Given the description of an element on the screen output the (x, y) to click on. 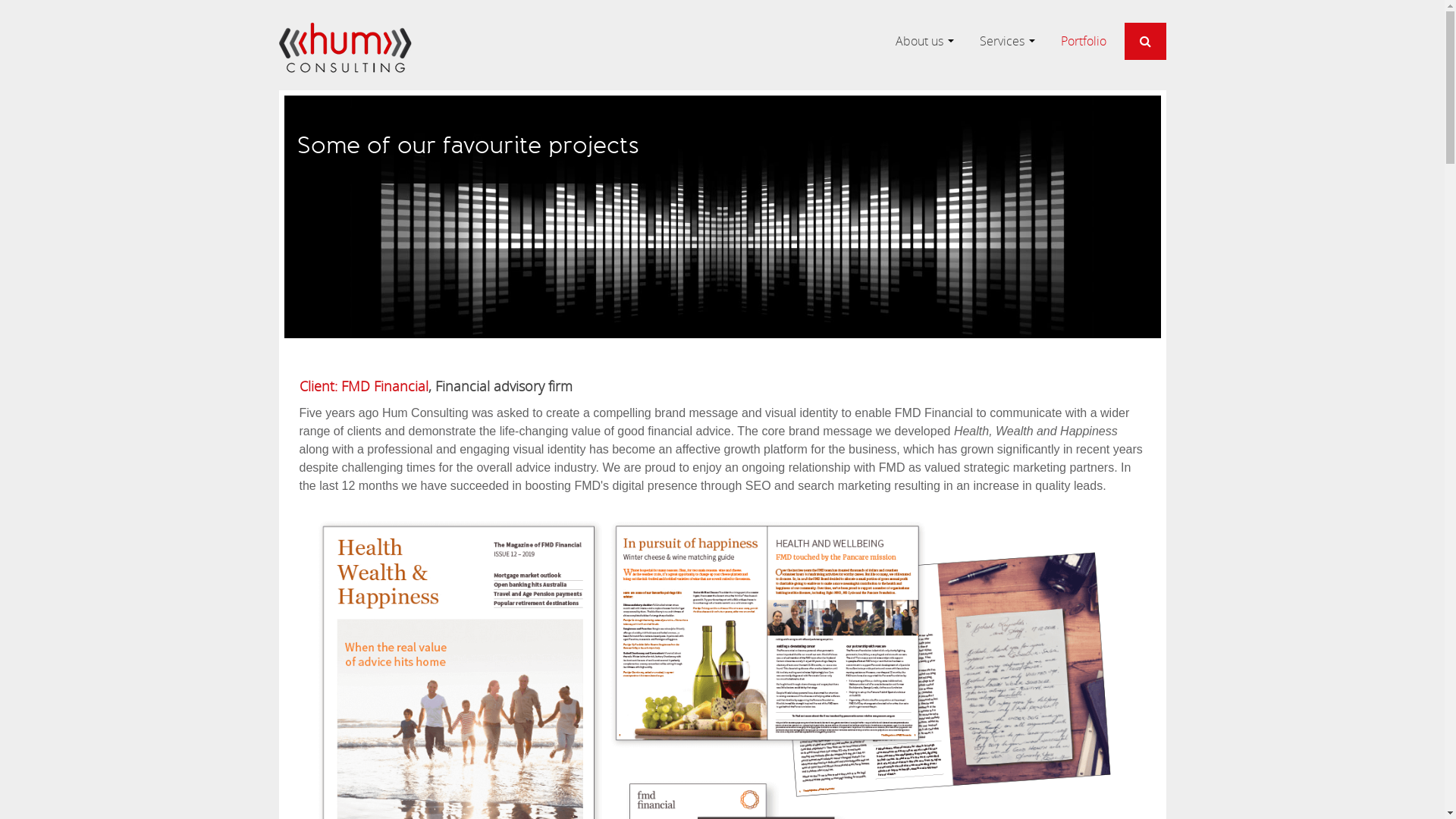
Services Element type: text (1001, 40)
Hum Consulting Element type: text (345, 47)
Client: FMD Financial Element type: text (362, 385)
Portfolio Element type: text (1082, 40)
About us Element type: text (918, 40)
